Given the description of an element on the screen output the (x, y) to click on. 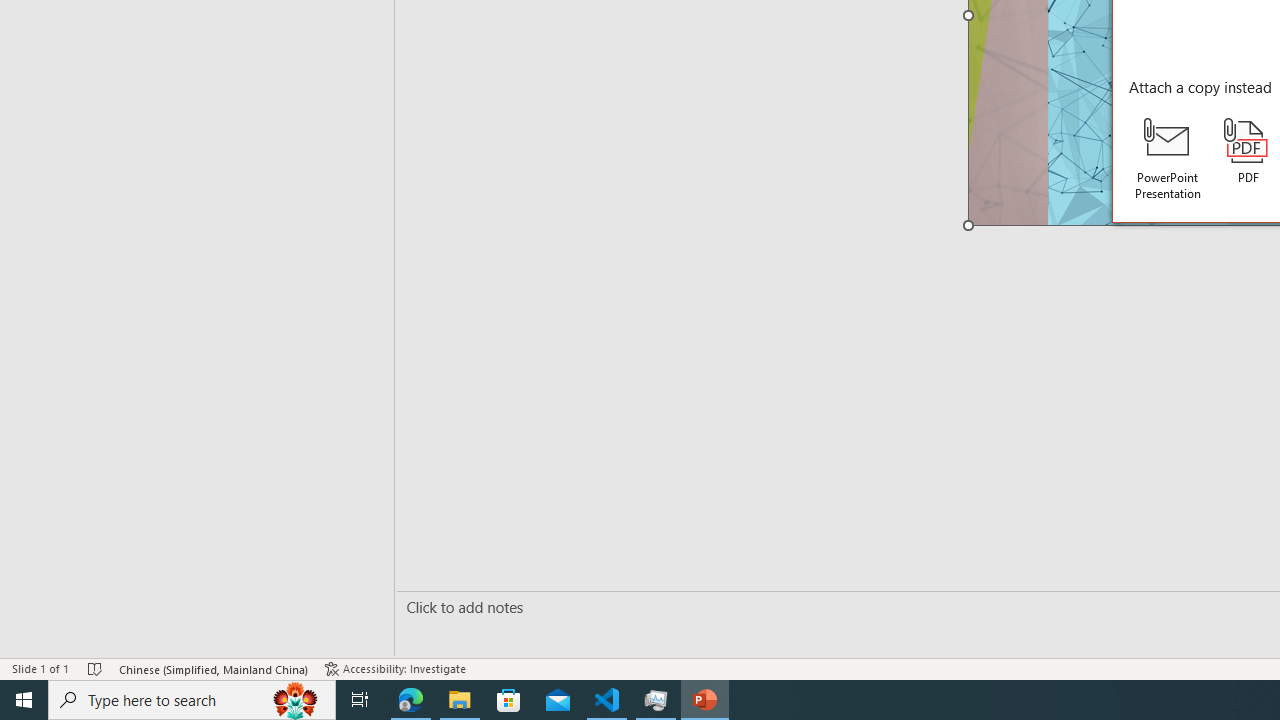
PDF (1247, 151)
Start (24, 699)
Visual Studio Code - 1 running window (607, 699)
Search highlights icon opens search home window (295, 699)
Type here to search (191, 699)
Task Manager - 1 running window (656, 699)
File Explorer - 1 running window (460, 699)
Microsoft Edge - 1 running window (411, 699)
PowerPoint - 1 running window (704, 699)
Task View (359, 699)
PowerPoint Presentation (1167, 159)
Microsoft Store (509, 699)
